Given the description of an element on the screen output the (x, y) to click on. 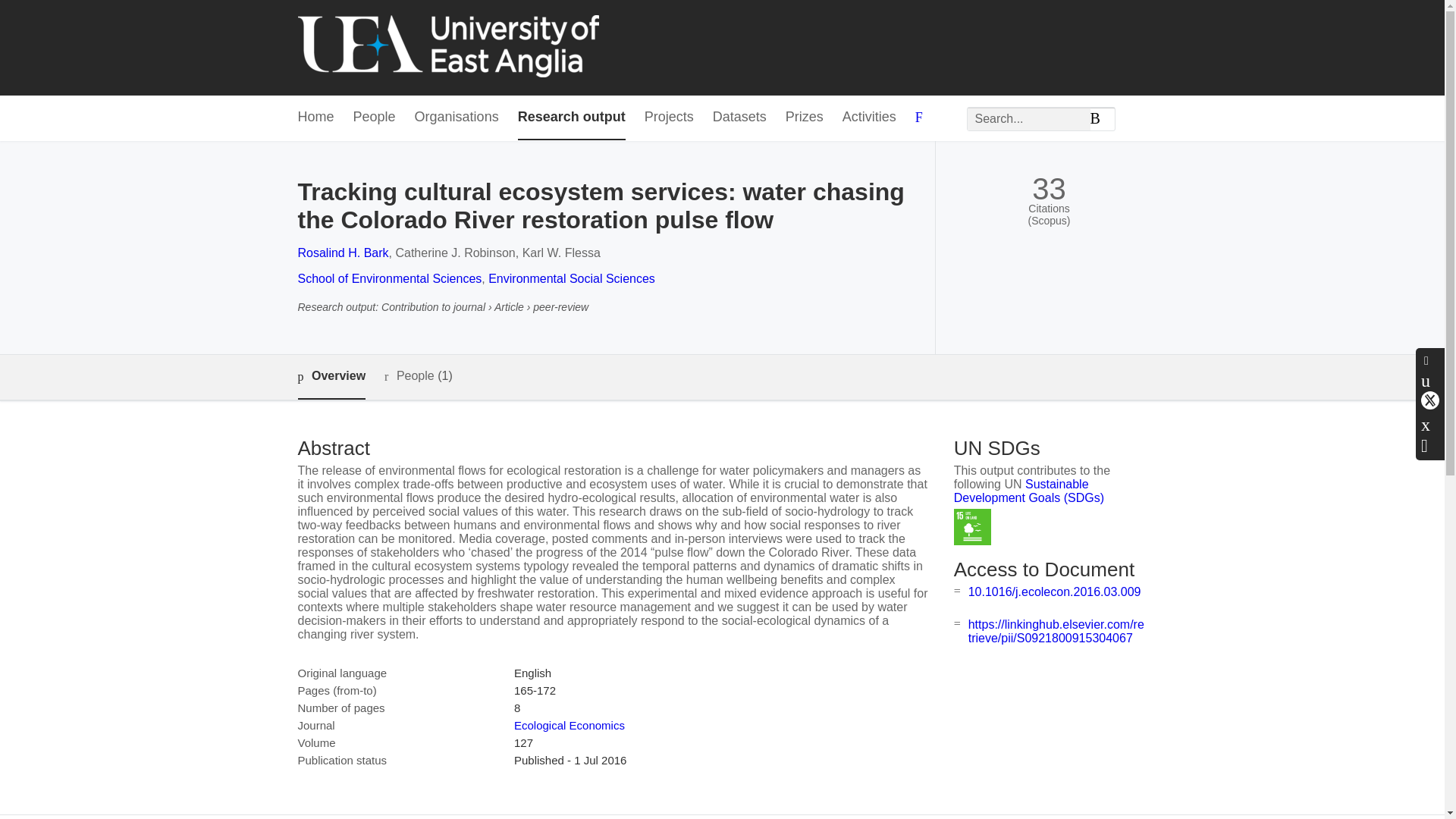
Activities (869, 117)
Organisations (456, 117)
Research output (572, 117)
People (374, 117)
SDG 15 - Life on Land (972, 527)
School of Environmental Sciences (389, 278)
Overview (331, 376)
Projects (669, 117)
Rosalind H. Bark (342, 252)
Datasets (740, 117)
Environmental Social Sciences (571, 278)
University of East Anglia Home (447, 47)
Ecological Economics (568, 725)
